Given the description of an element on the screen output the (x, y) to click on. 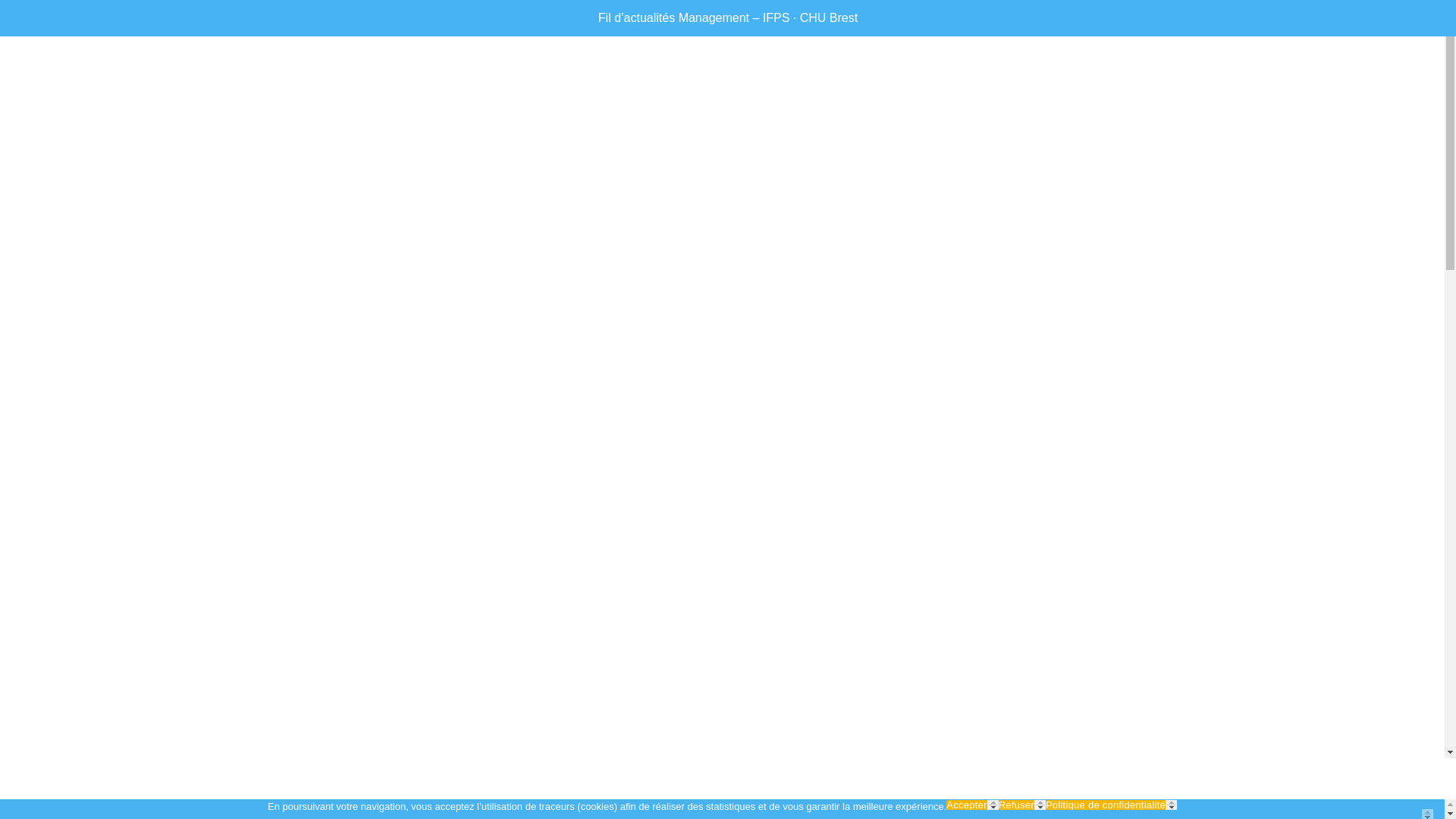
Accepter Element type: text (971, 804)
Refuser Element type: text (1021, 804)
